Given the description of an element on the screen output the (x, y) to click on. 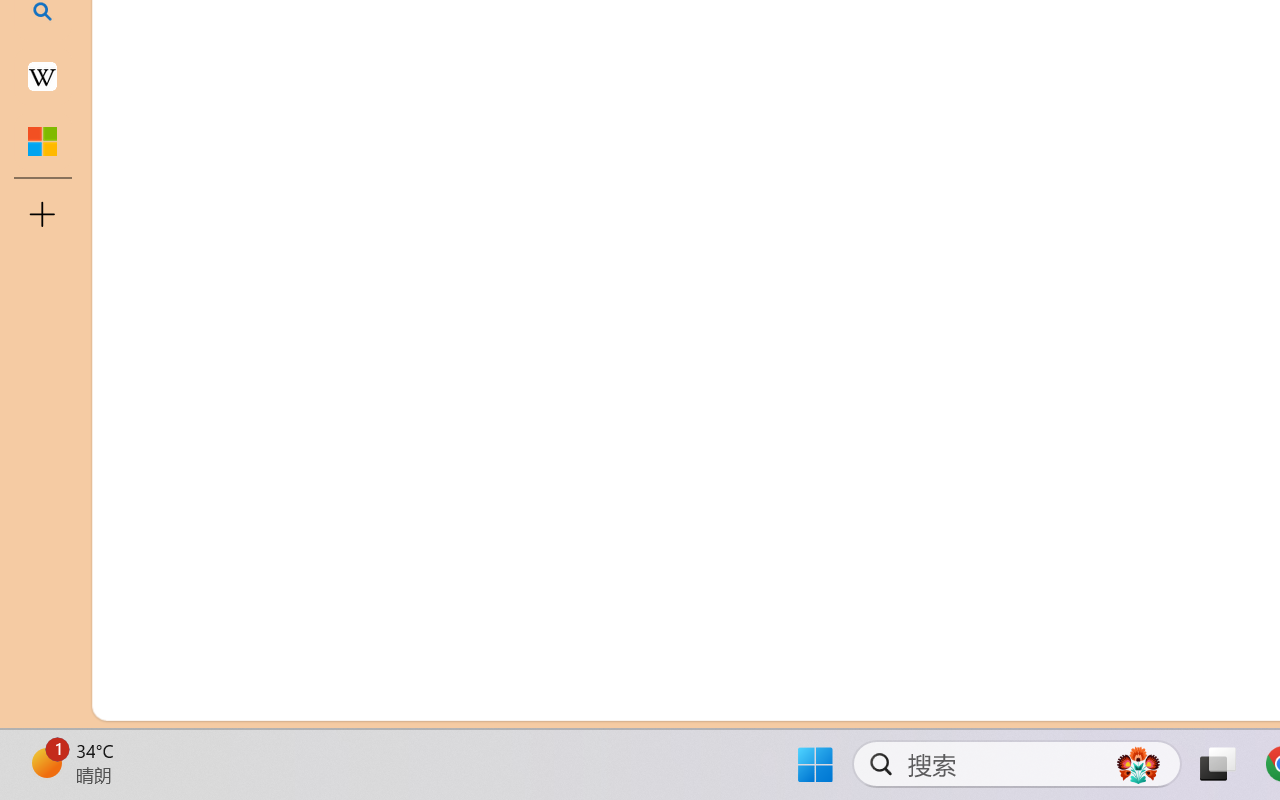
Forwarded Ports: 36301, 47065, 38781, 45817, 50331 (308, 698)
Timeline Section (331, 658)
